Given the description of an element on the screen output the (x, y) to click on. 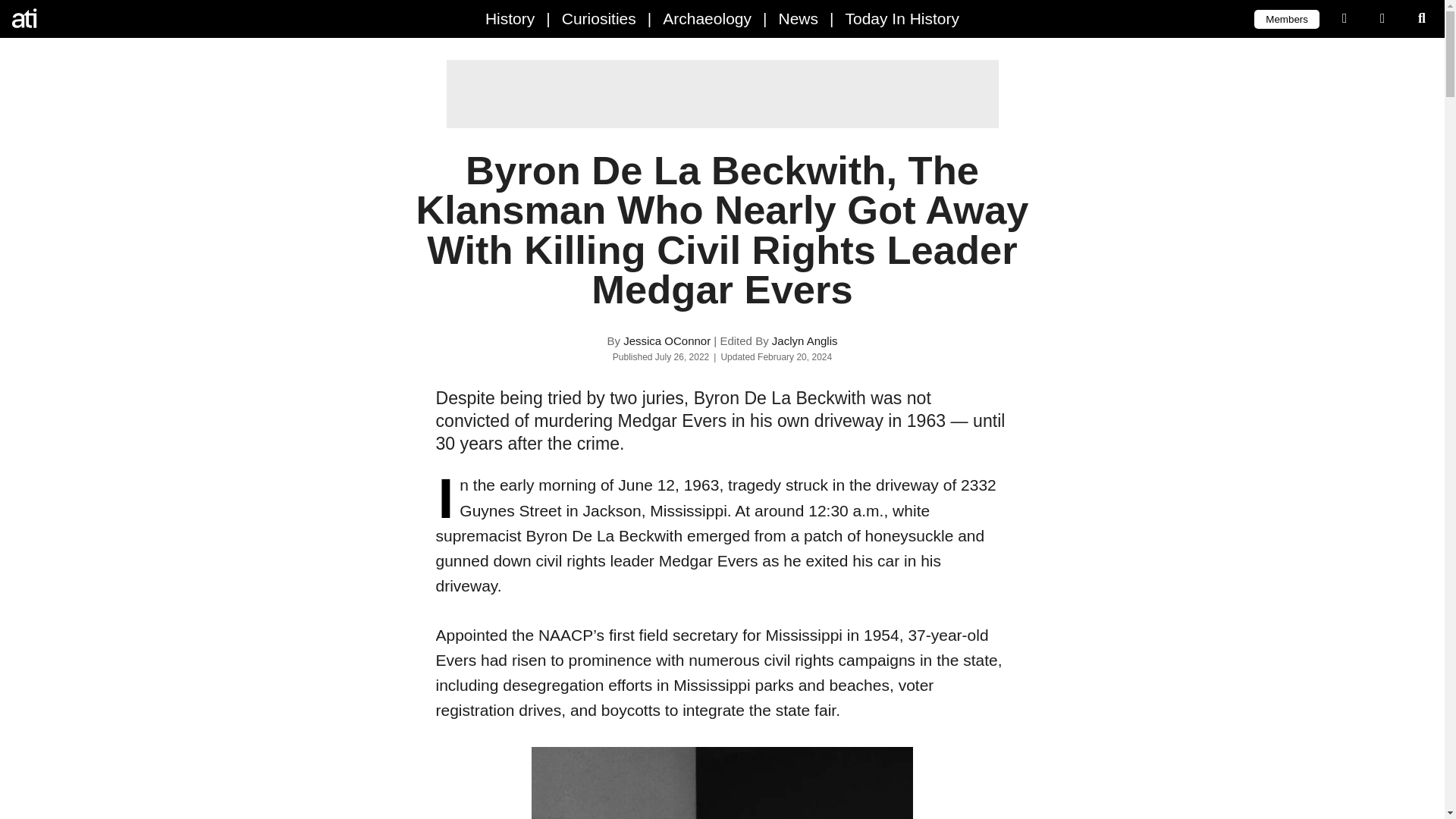
Jaclyn Anglis (804, 340)
All That's Interesting (75, 18)
Jessica OConnor (666, 340)
Archaeology (706, 18)
Curiosities (598, 18)
News (798, 18)
Members (1286, 18)
History (510, 18)
Today In History (901, 18)
